Given the description of an element on the screen output the (x, y) to click on. 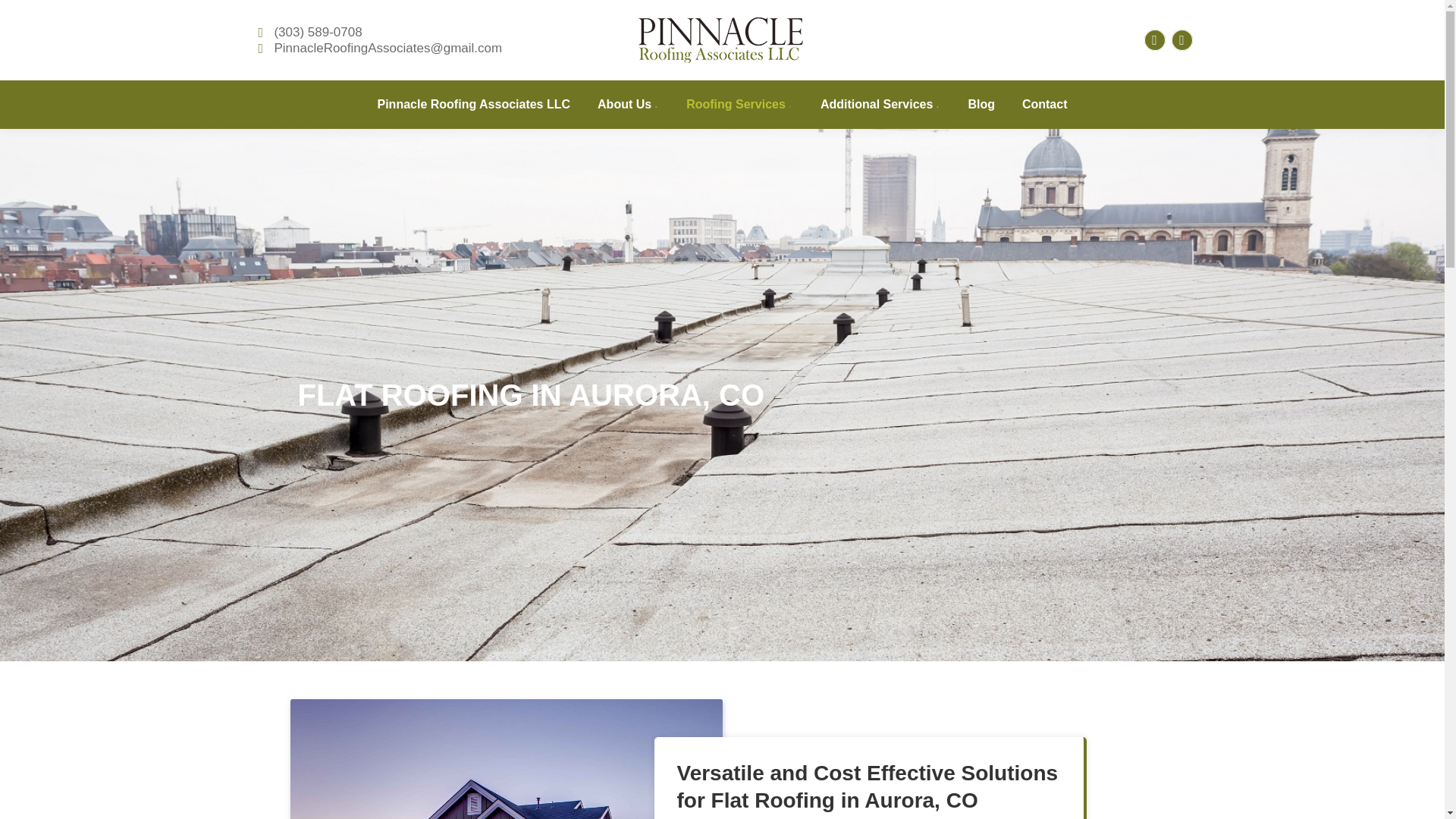
Blog (980, 104)
Facebook page opens in new window (1153, 39)
Facebook page opens in new window (1153, 39)
Pinnacle Roofing Associates LLC (473, 104)
Twitter page opens in new window (1181, 39)
Roofing Installation (739, 104)
Pinnacle Roofing Associates LLC (473, 104)
About Pinnacle Roofing Associates LLC (628, 104)
Additional Services (879, 104)
About Us (628, 104)
Roofing Services (739, 104)
Twitter page opens in new window (1181, 39)
